Given the description of an element on the screen output the (x, y) to click on. 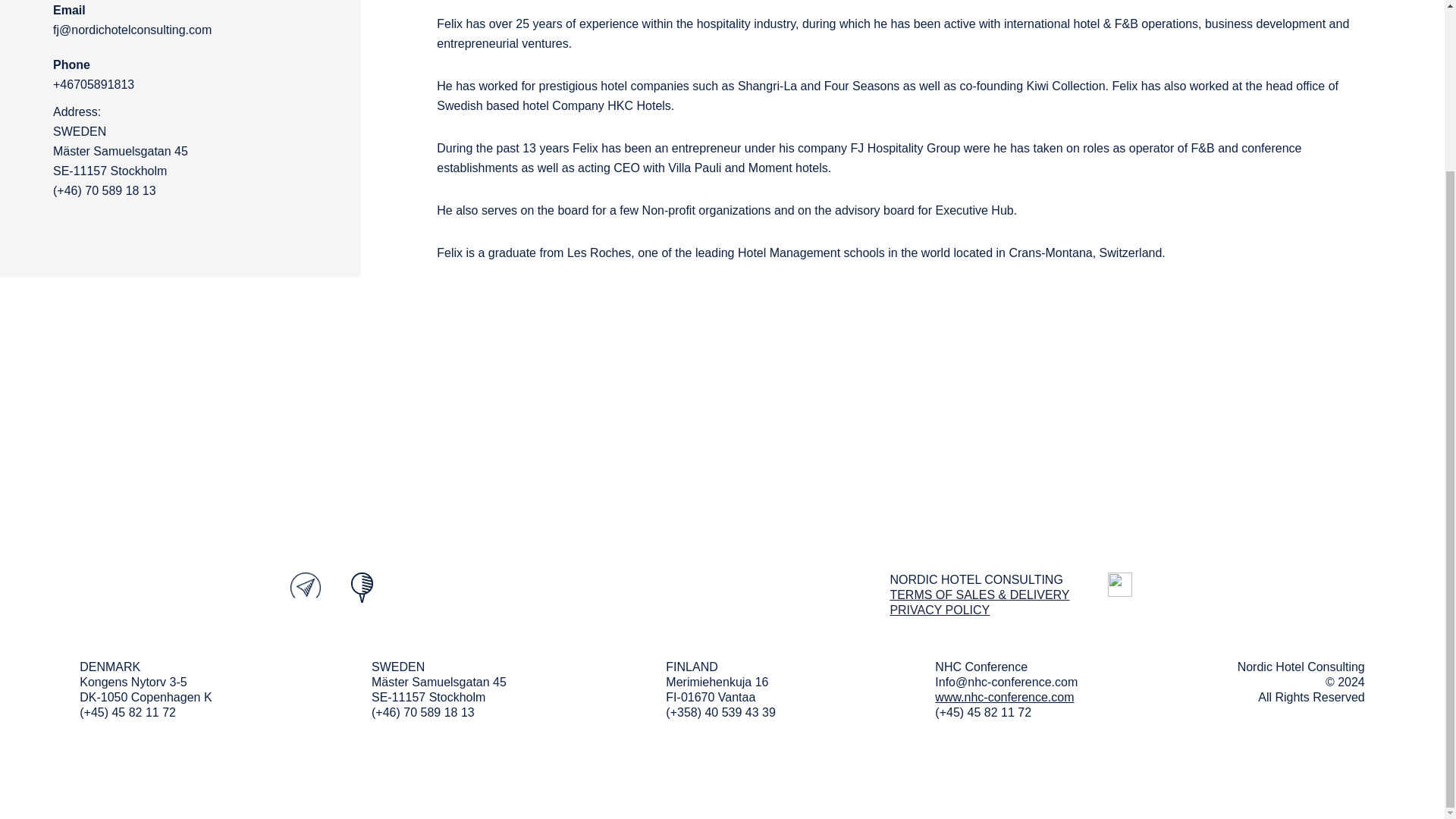
PRIVACY POLICY (939, 609)
www.nhc-conference.com (1004, 697)
